Given the description of an element on the screen output the (x, y) to click on. 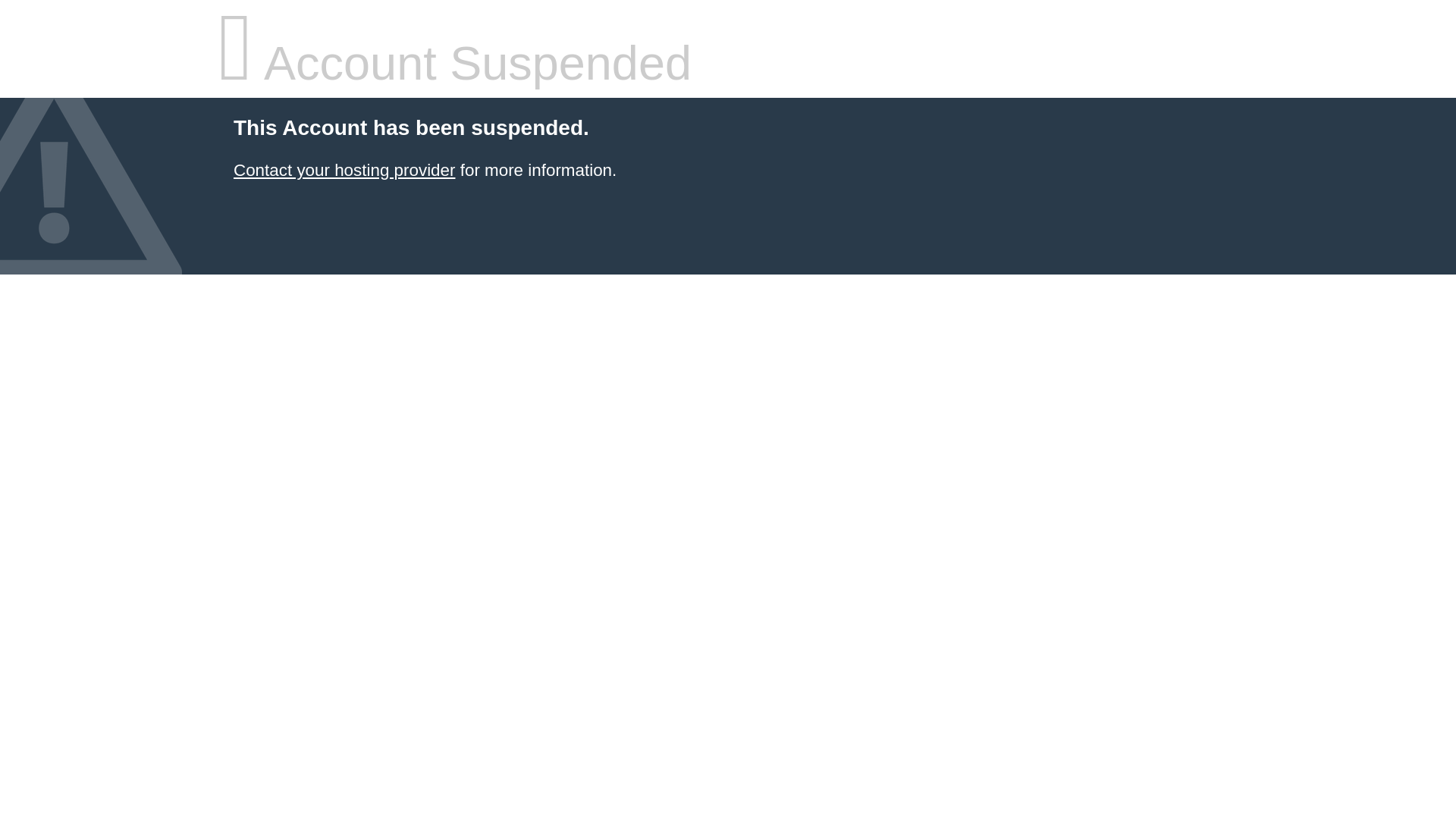
Contact your hosting provider (343, 169)
